Given the description of an element on the screen output the (x, y) to click on. 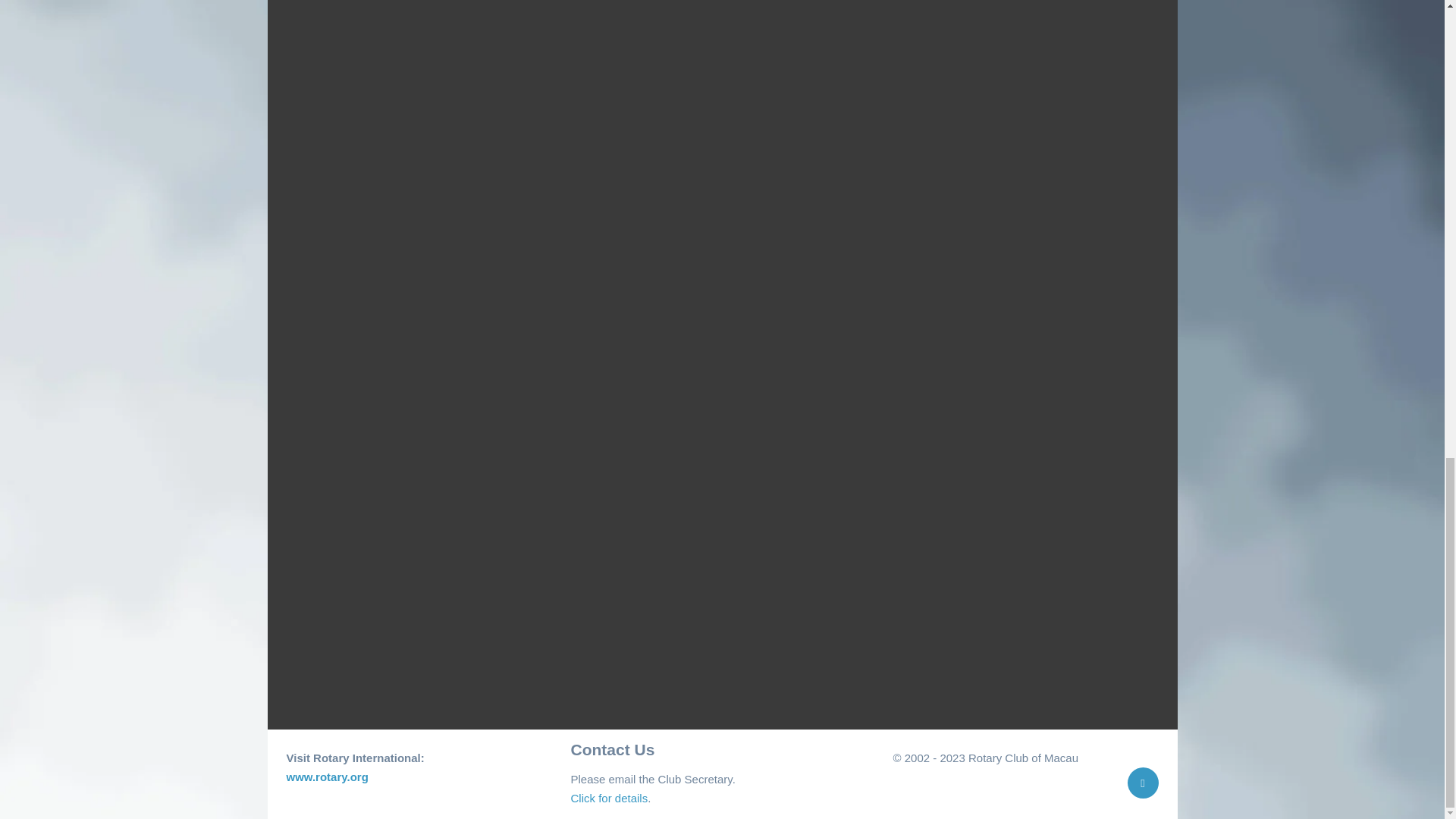
www.rotary.org (327, 776)
www.rotary.org (327, 776)
Click for details (608, 797)
